Given the description of an element on the screen output the (x, y) to click on. 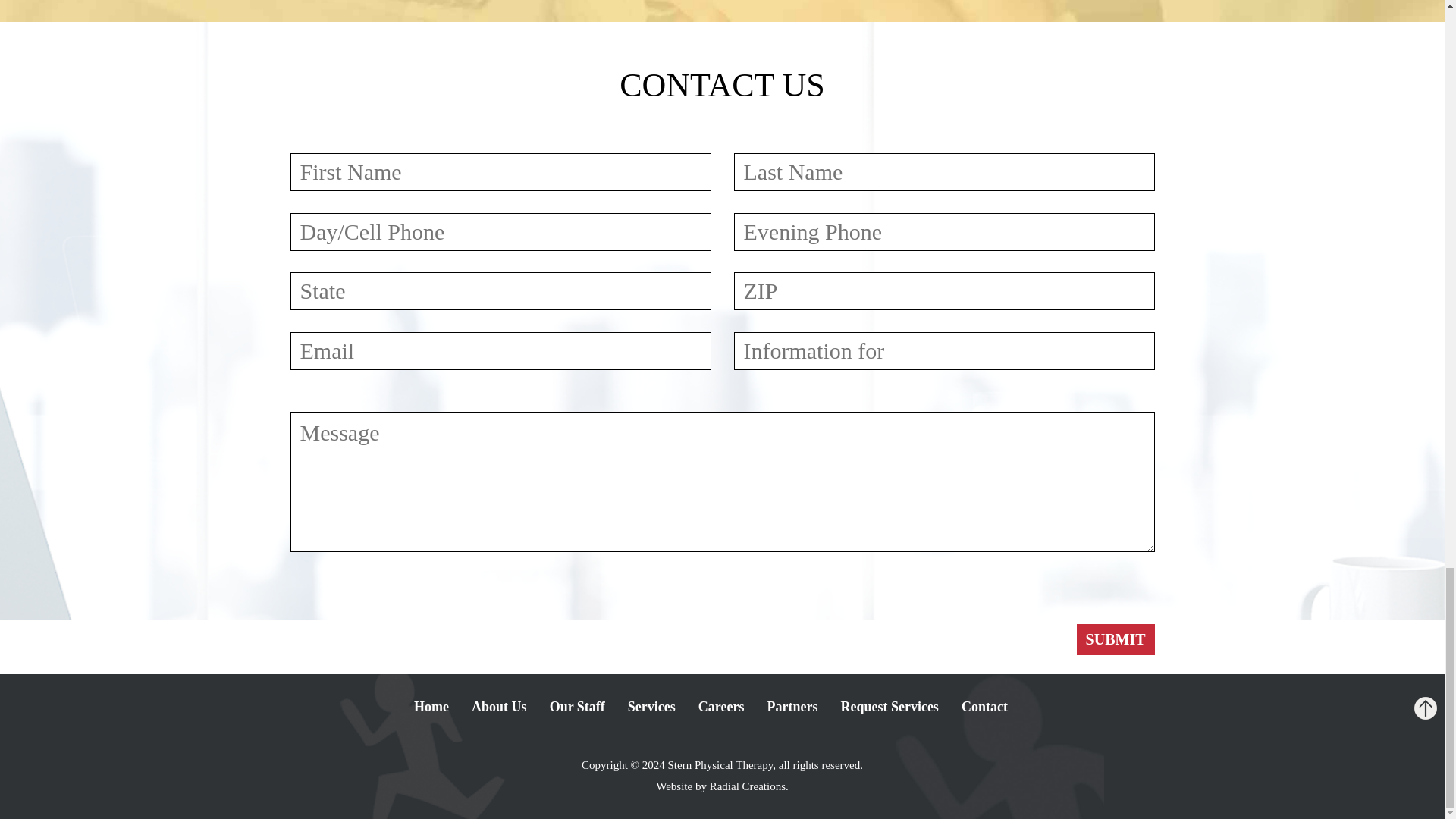
Services (651, 706)
Our Staff (577, 706)
Careers (721, 706)
Request Services (888, 706)
Contact (983, 706)
About Us (499, 706)
Home (430, 706)
Website by Radial Creations. (722, 786)
Submit (1115, 639)
Submit (1115, 639)
Partners (791, 706)
